Given the description of an element on the screen output the (x, y) to click on. 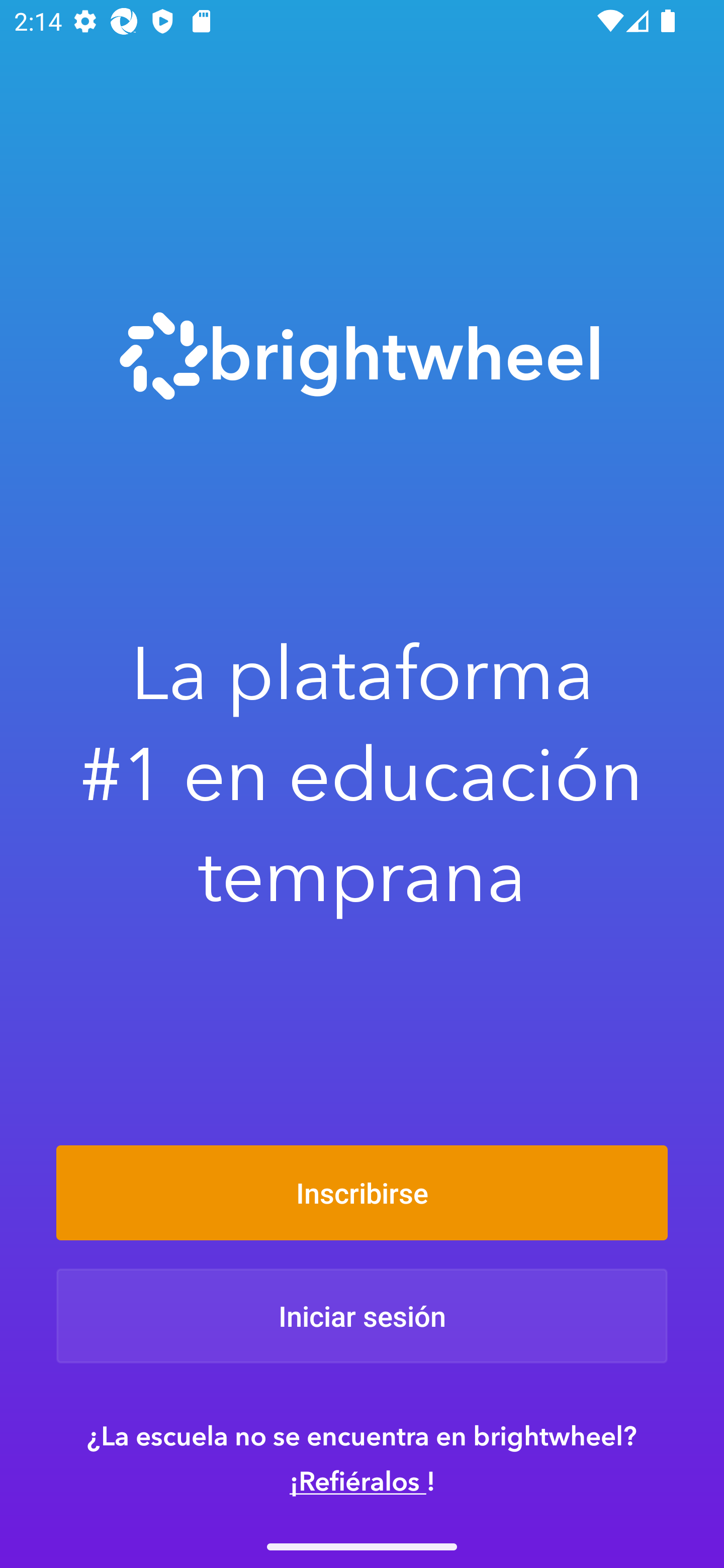
Inscribirse (361, 1192)
Iniciar sesión (361, 1316)
